Given the description of an element on the screen output the (x, y) to click on. 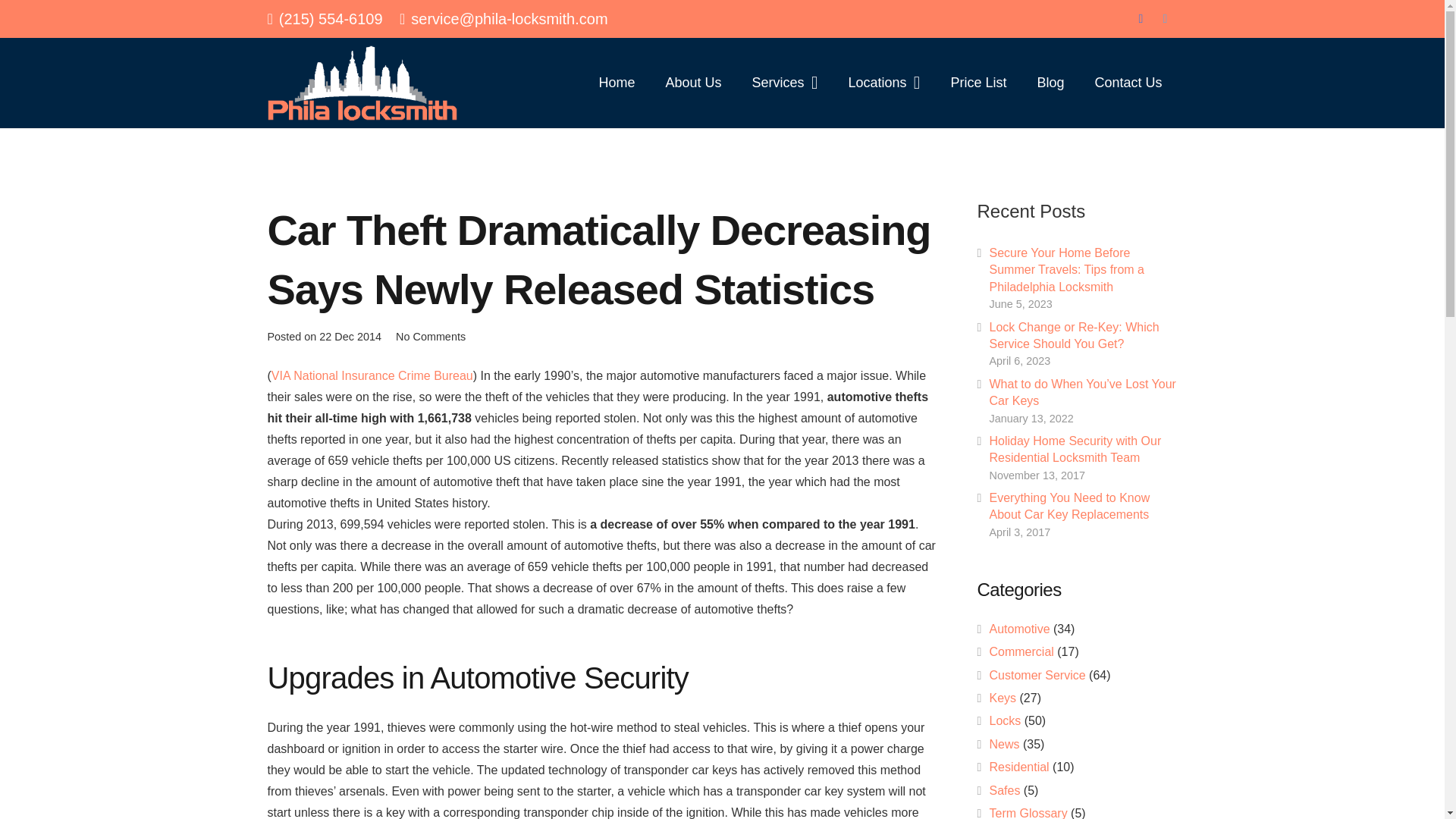
Twitter (1164, 18)
Services (784, 82)
Locations (883, 82)
VIA National Insurance Crime Bureau (371, 375)
No Comments (430, 336)
nicb vehicle theft statistics (371, 375)
About Us (692, 82)
Facebook (1140, 18)
Price List (978, 82)
Contact Us (1127, 82)
No Comments (430, 336)
